Given the description of an element on the screen output the (x, y) to click on. 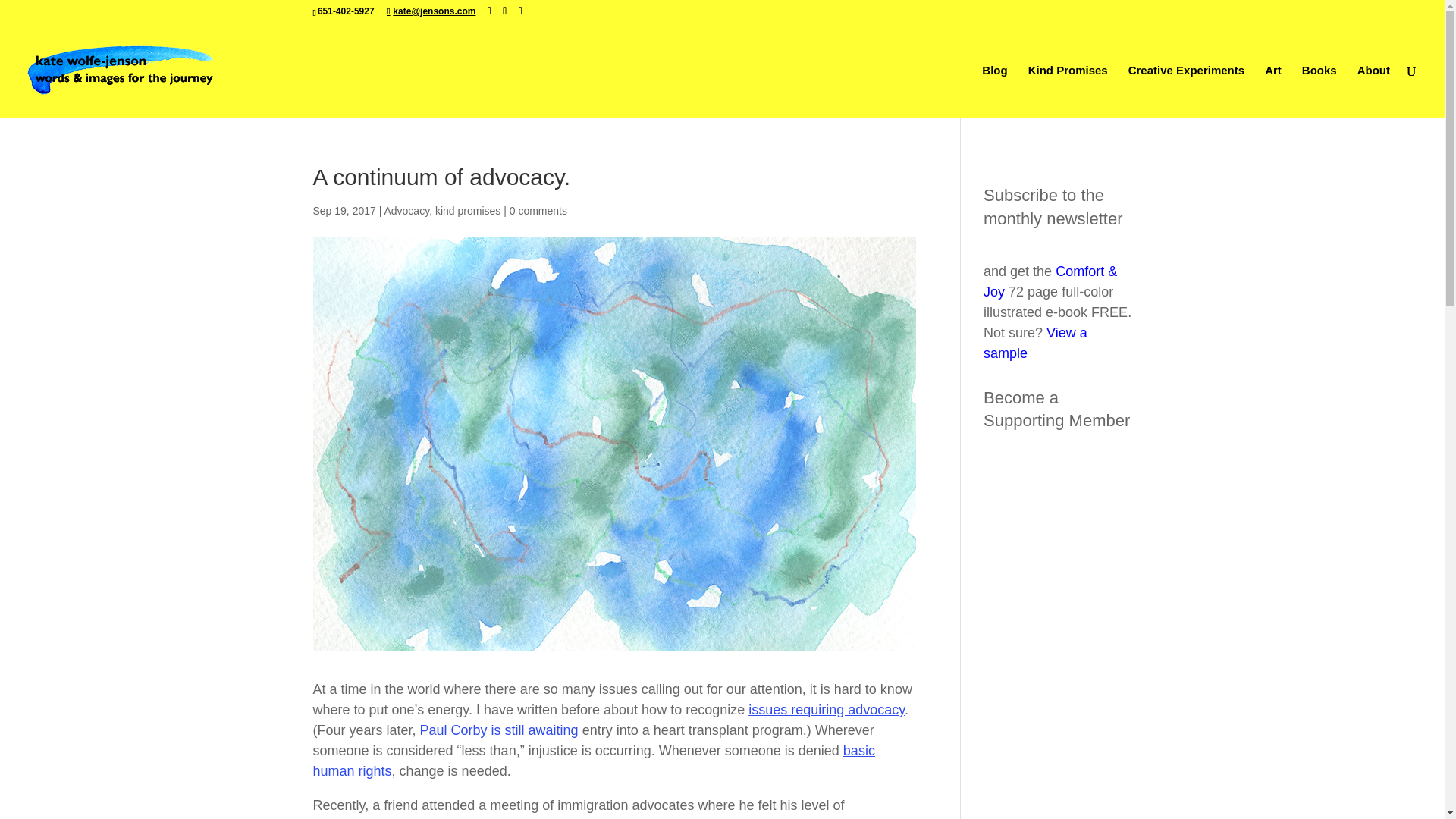
Become a Supporting Member (1056, 409)
Books (1318, 91)
basic human rights (594, 760)
Subscribe to the monthly newsletter (1053, 206)
0 comments (538, 210)
kind promises (467, 210)
issues requiring advocacy (826, 709)
About (1373, 91)
Paul Corby is still awaiting (499, 729)
Art (1273, 91)
Blog (994, 91)
View a sample (1035, 343)
Kind Promises (1067, 91)
Creative Experiments (1186, 91)
Advocacy (406, 210)
